Given the description of an element on the screen output the (x, y) to click on. 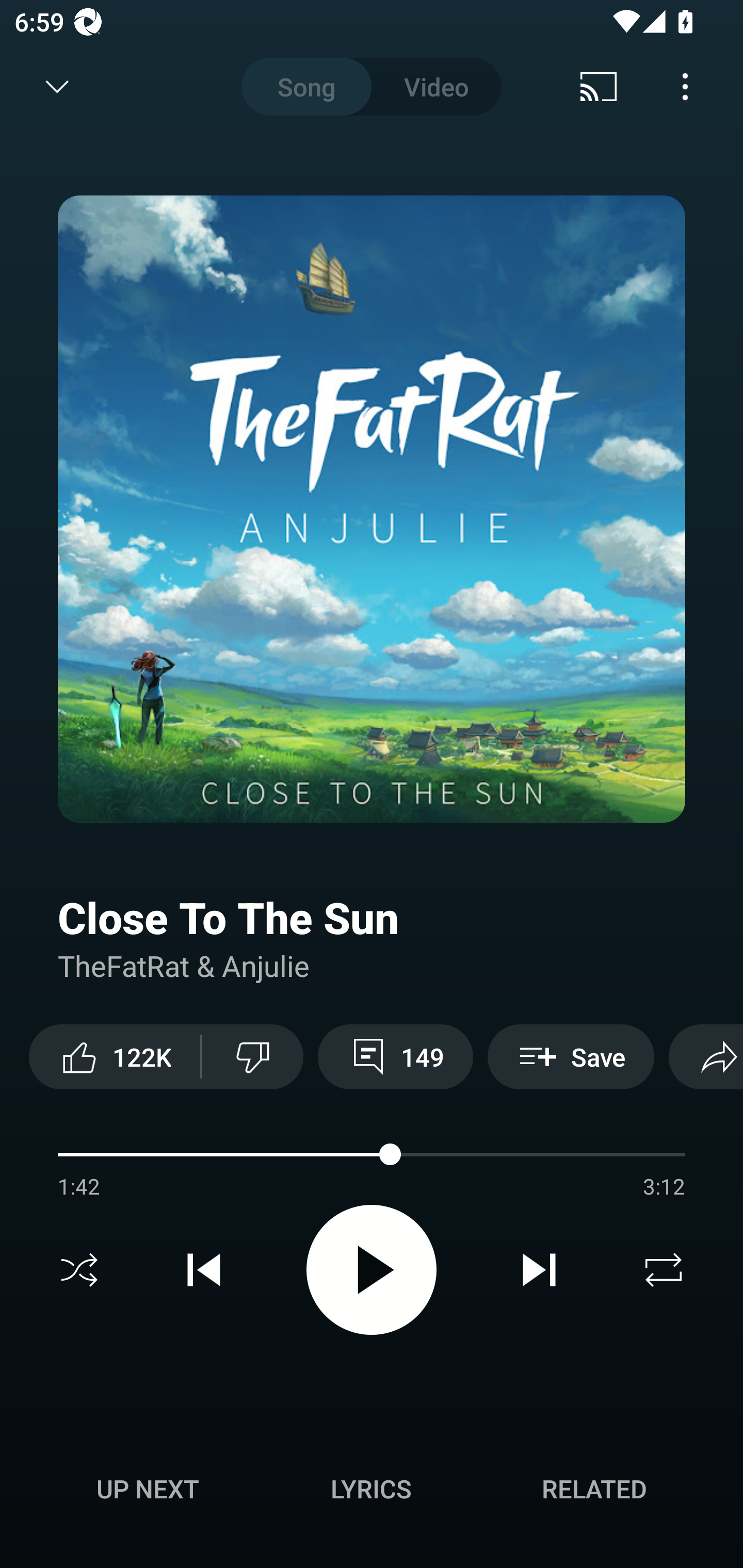
Minimize (57, 86)
Cast. Disconnected (598, 86)
Menu (684, 86)
Dislike (252, 1056)
149 View 149 comments (395, 1056)
Save Save to playlist (570, 1056)
Share (705, 1056)
Play video (371, 1269)
Shuffle off (79, 1269)
Previous track (203, 1269)
Next track (538, 1269)
Repeat off (663, 1269)
Up next UP NEXT Lyrics LYRICS Related RELATED (371, 1491)
Lyrics LYRICS (370, 1488)
Related RELATED (594, 1488)
